Given the description of an element on the screen output the (x, y) to click on. 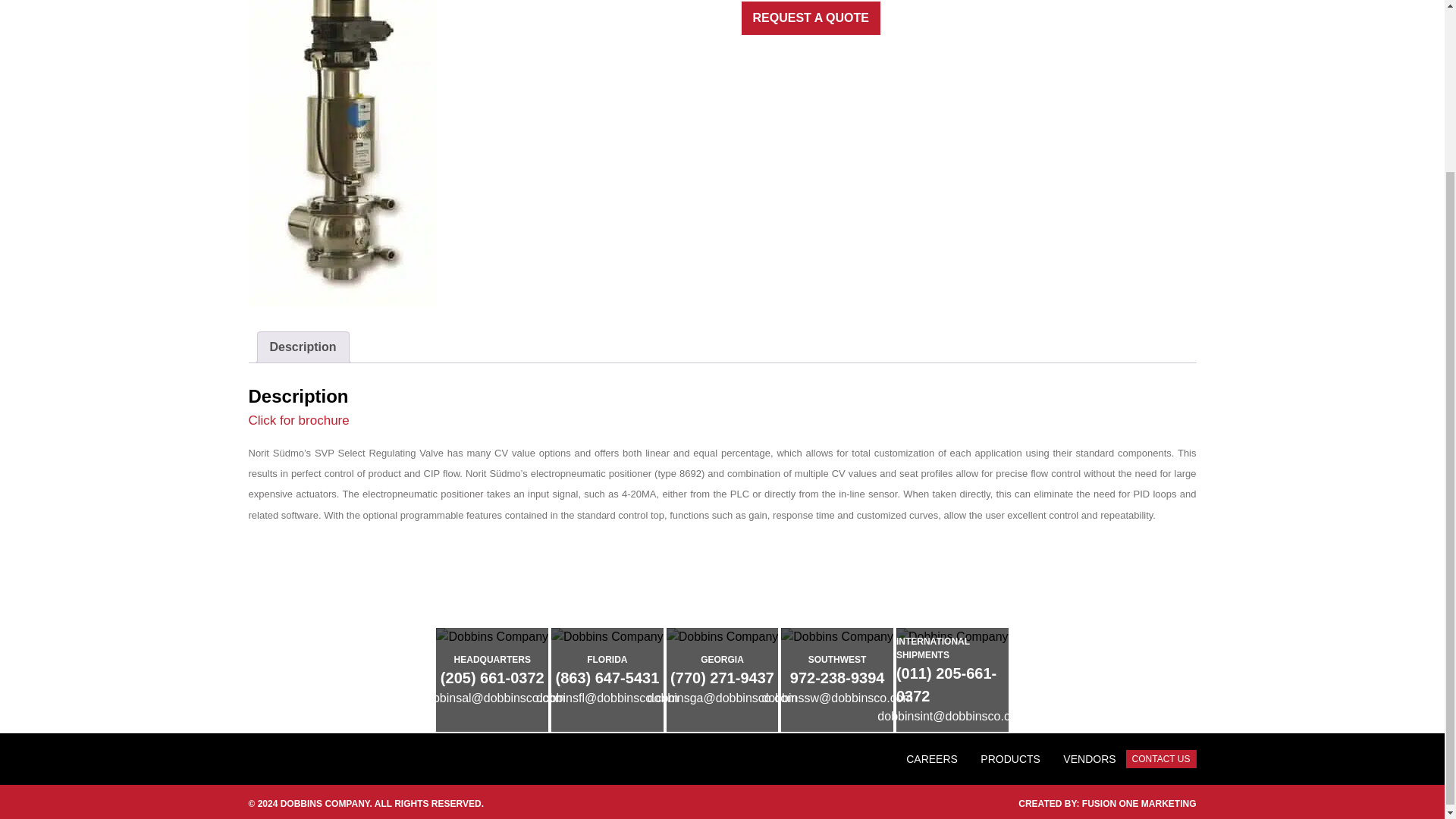
Click for brochure (298, 420)
REQUEST A QUOTE (810, 18)
Description (302, 347)
